Given the description of an element on the screen output the (x, y) to click on. 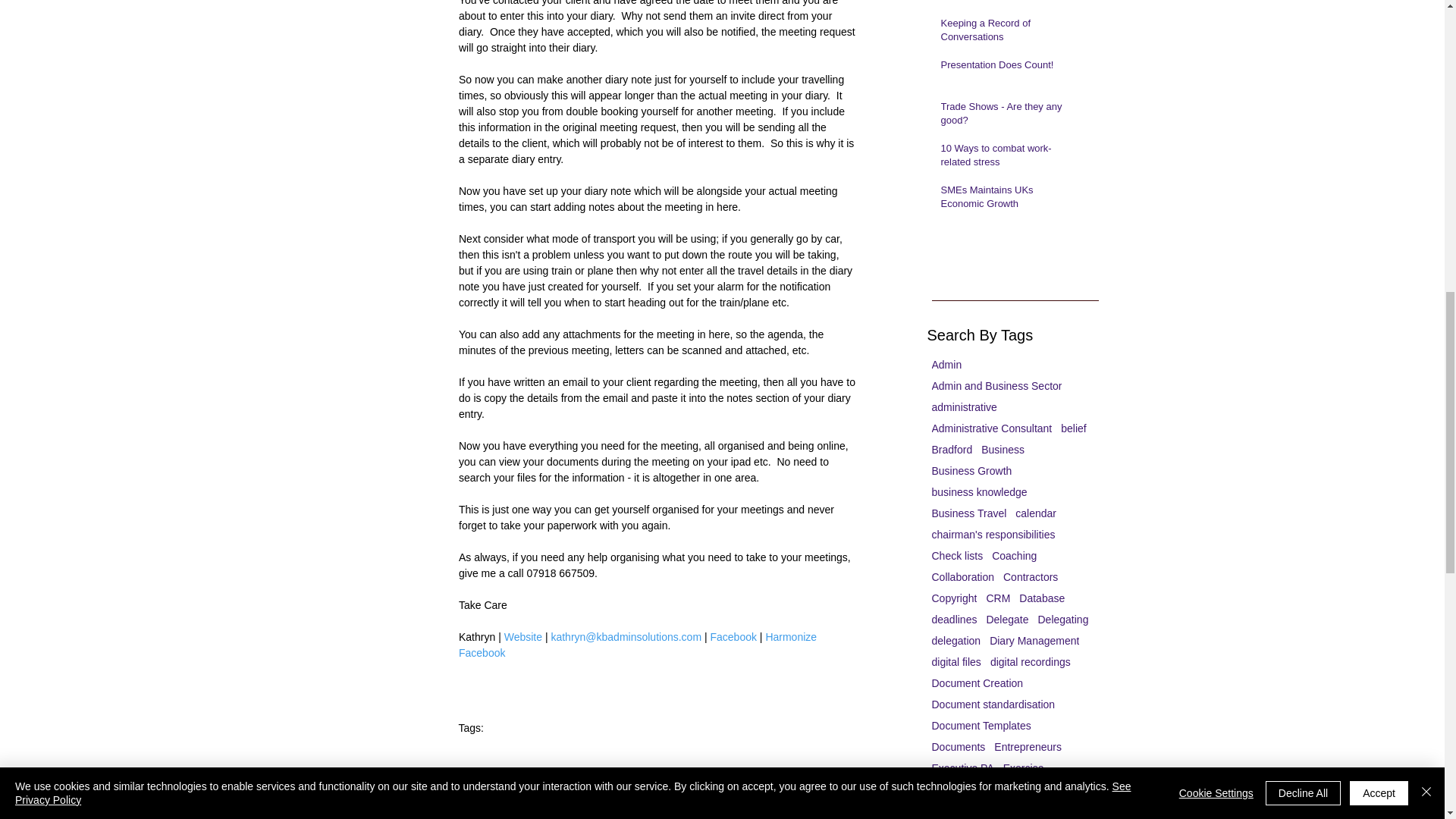
Organising meetings (506, 758)
Organisation (696, 758)
10 Ways to combat work-related stress (1005, 158)
Meetings (834, 809)
Diary Management (780, 758)
Harmonize Facebook  (638, 644)
Admin (945, 364)
Facebook (732, 636)
Presentation Does Count! (1005, 67)
Website (522, 636)
